Given the description of an element on the screen output the (x, y) to click on. 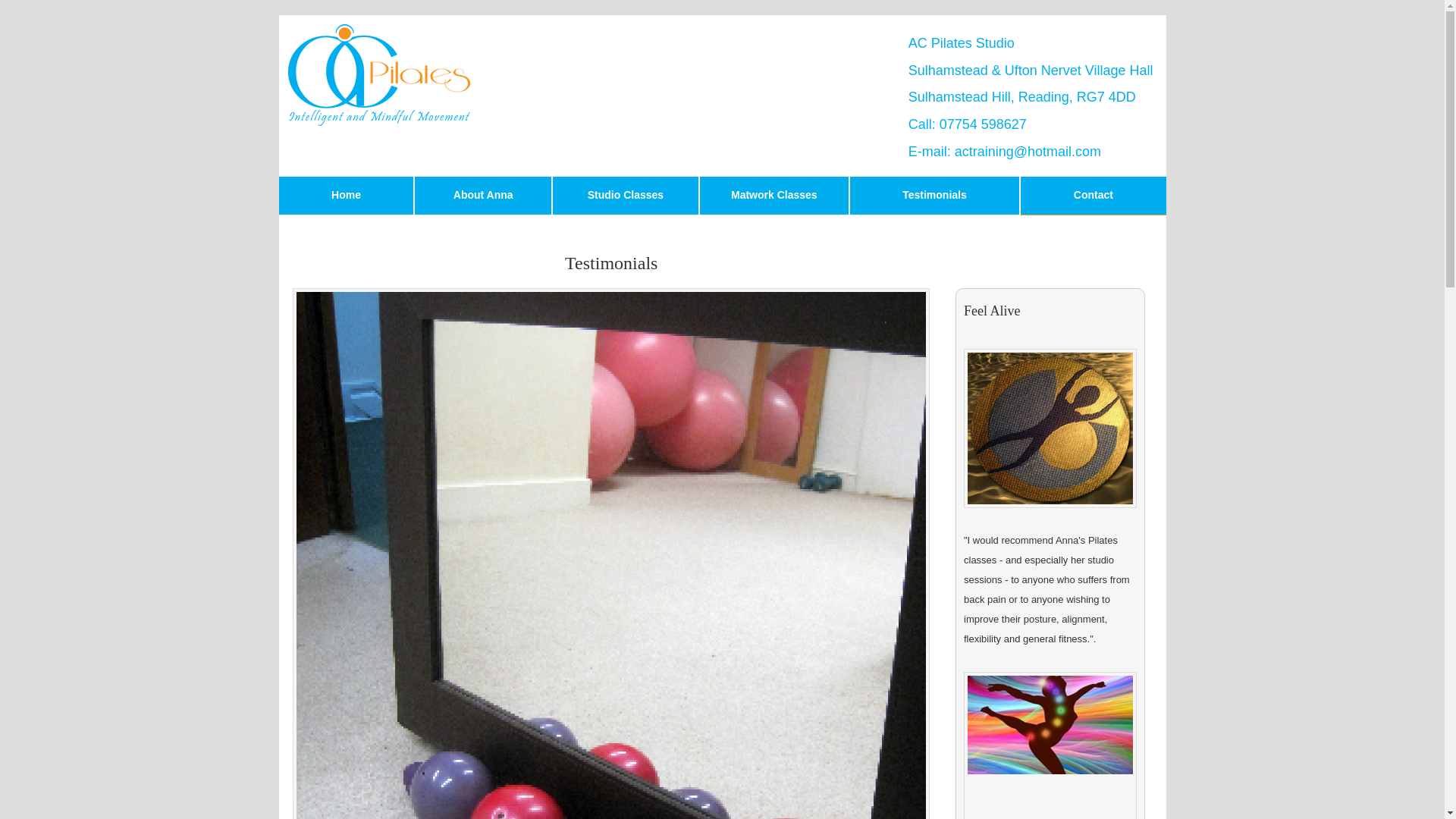
Well, we just like it! (1050, 745)
Testimonials (934, 195)
Studio Classes (624, 195)
Home (346, 195)
About Anna (482, 195)
Matwork Classes (773, 195)
Contact (1093, 195)
